Given the description of an element on the screen output the (x, y) to click on. 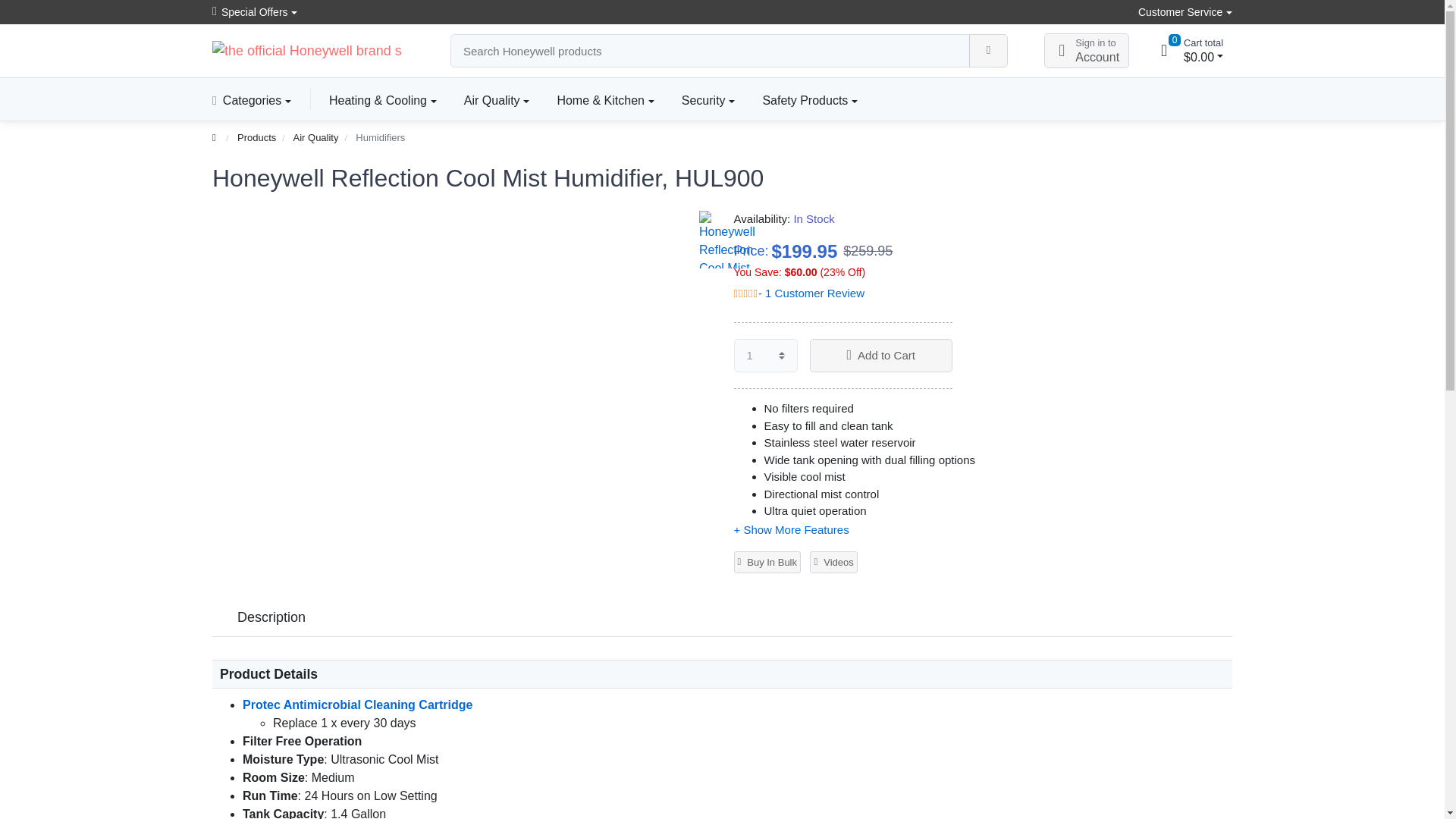
Customer Service (1184, 12)
Special Offers (254, 12)
Categories (258, 98)
0 (1163, 50)
